Given the description of an element on the screen output the (x, y) to click on. 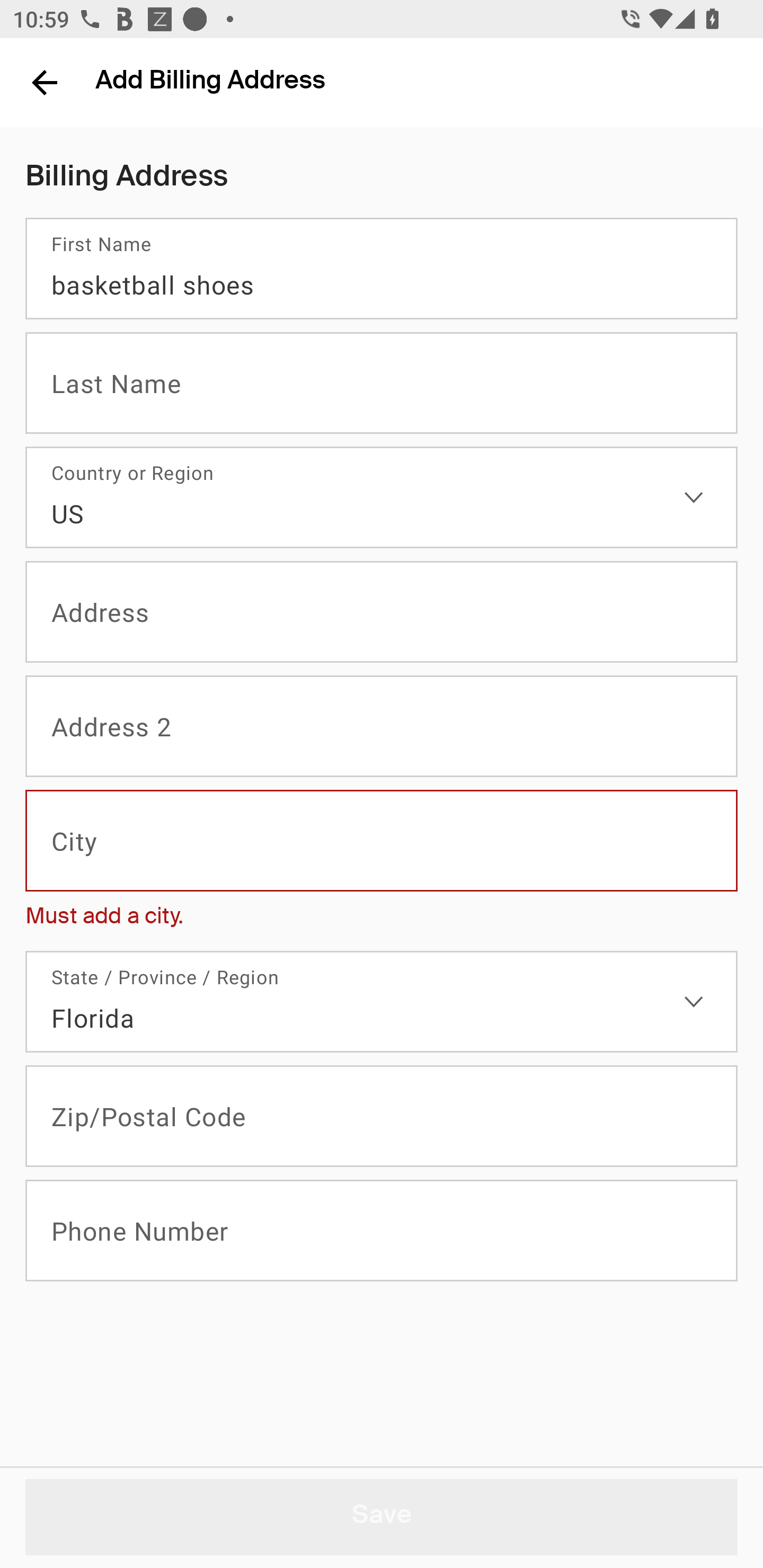
Navigate up (44, 82)
basketball shoes
 First Name (381, 268)
Last Name (381, 383)
Address (381, 612)
Address 2 (381, 726)
City Must add a city. (381, 863)
Zip/Postal Code (381, 1115)
Phone Number (381, 1230)
Save (381, 1516)
